Given the description of an element on the screen output the (x, y) to click on. 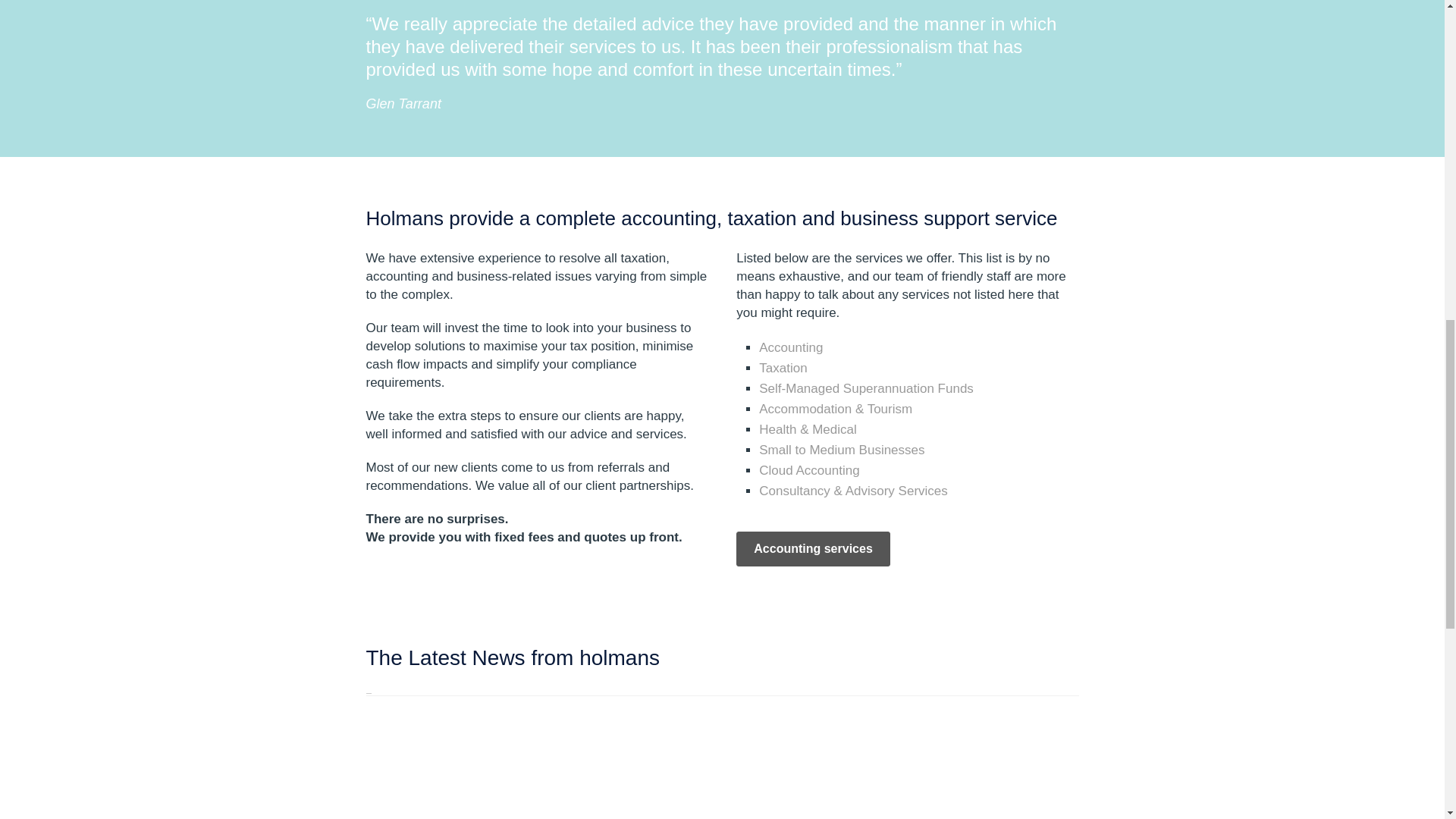
Cloud Accounting (808, 470)
2024-25 Federal Budget Announcements (630, 765)
Taxation (782, 368)
Accounting services (812, 548)
Self-Managed Superannuation Funds (866, 388)
Small to Medium Businesses (841, 450)
Accounting (790, 347)
The Tax Deduction Lie (994, 765)
